Given the description of an element on the screen output the (x, y) to click on. 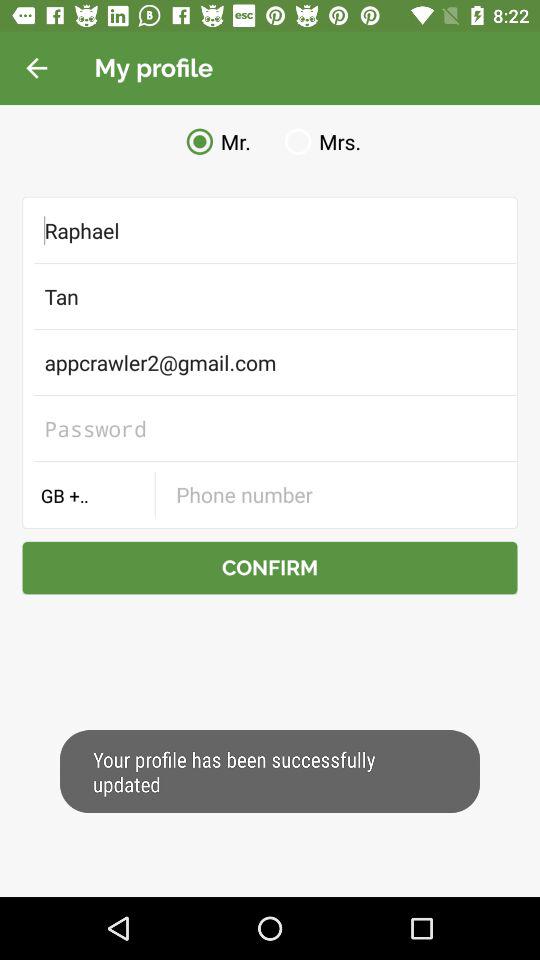
click mrs (319, 141)
